Given the description of an element on the screen output the (x, y) to click on. 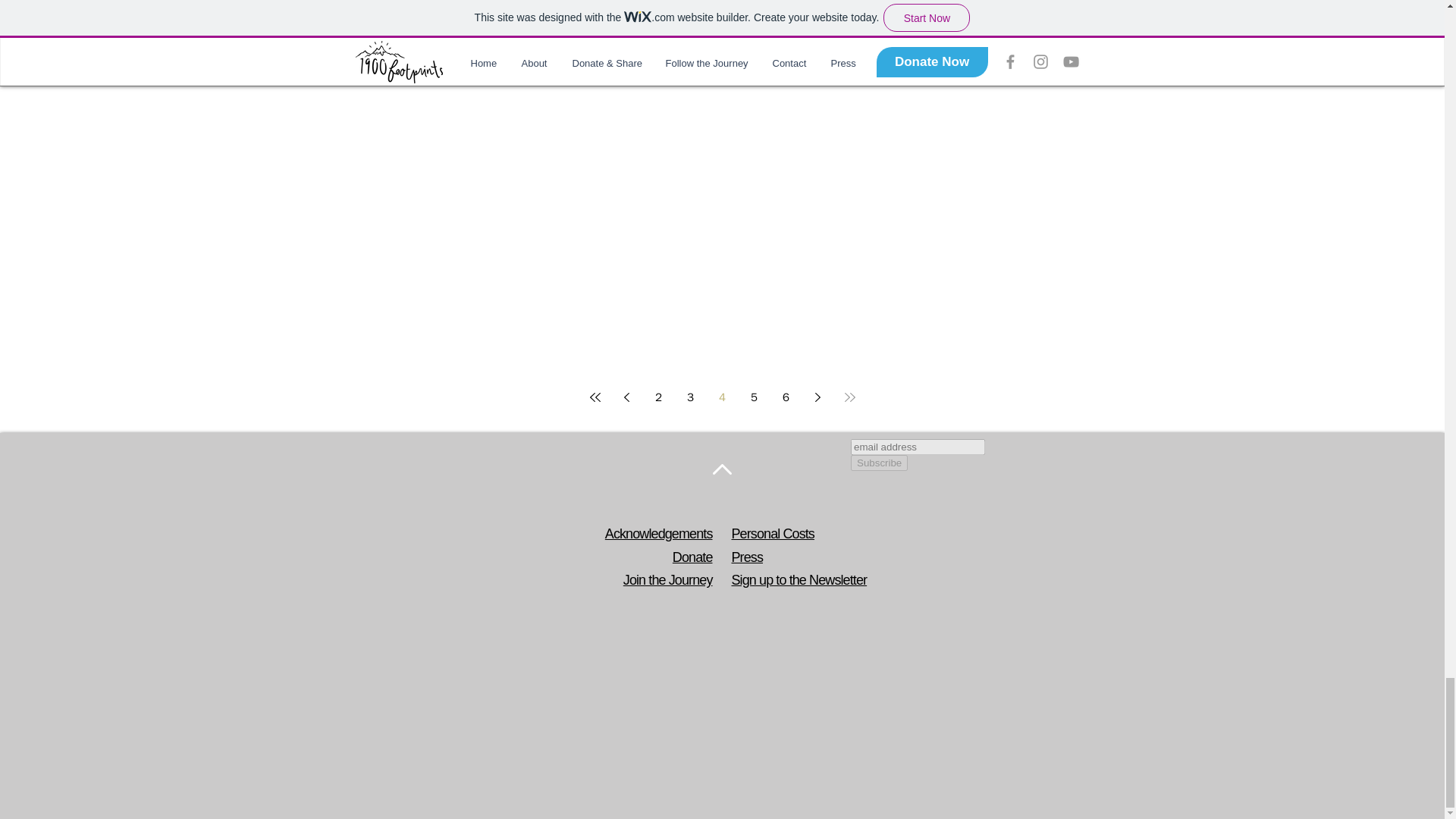
6 (785, 397)
Embedded Content (969, 477)
2 (658, 397)
5 (753, 397)
3 (690, 397)
